Given the description of an element on the screen output the (x, y) to click on. 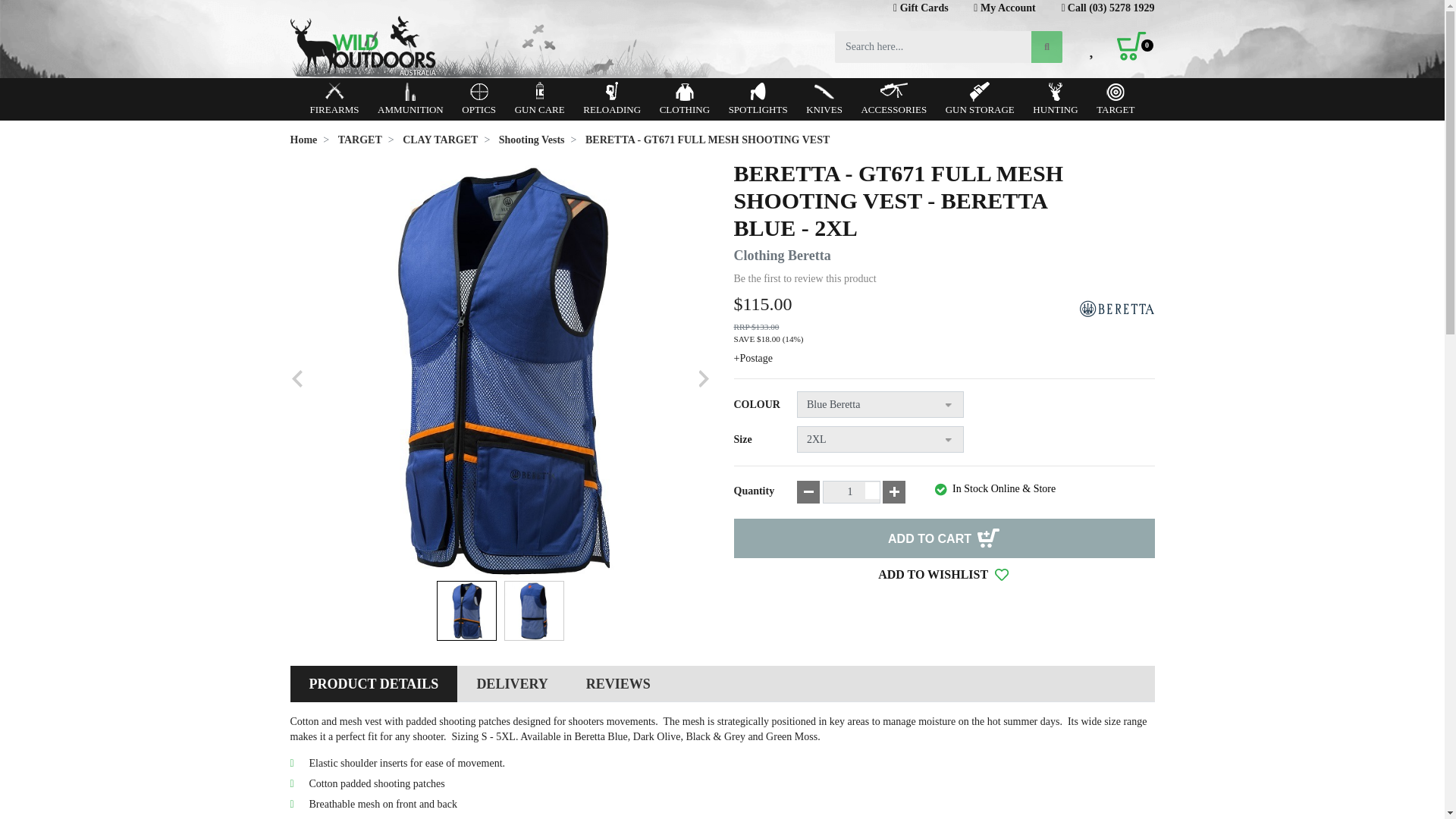
FIREARMS (333, 98)
My Wishlist (1092, 47)
1 (850, 491)
Gift Cards (921, 7)
Large View (533, 610)
Large View (466, 610)
call (1107, 7)
Wild Outdoors Australia (499, 45)
title (1004, 7)
0 (1135, 47)
Search (1046, 47)
Gift Cards (921, 7)
AMMUNITION (410, 98)
My Account (1004, 7)
